Given the description of an element on the screen output the (x, y) to click on. 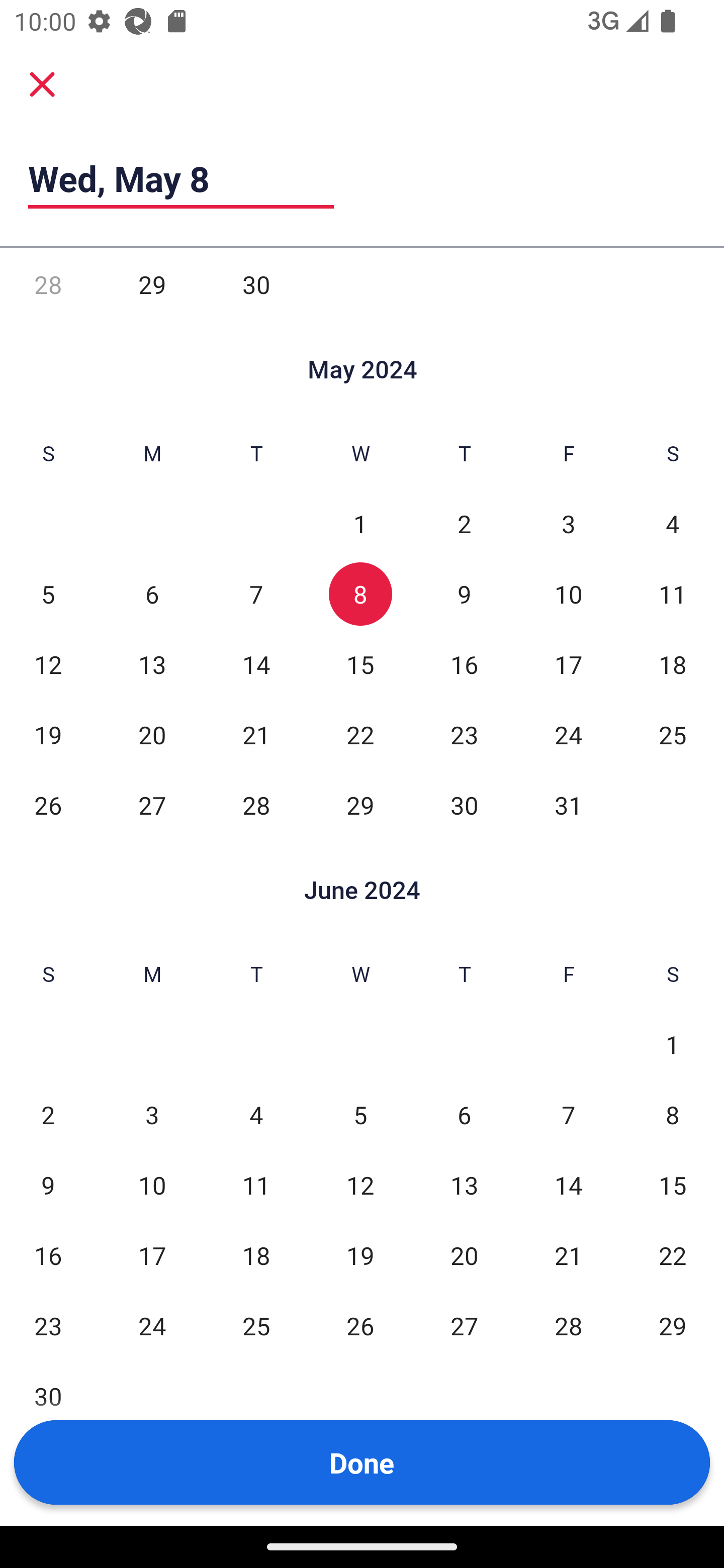
Cancel (41, 83)
Wed, May 8 (180, 178)
28 Sun, Apr 28, Not Selected (48, 284)
29 Mon, Apr 29, Not Selected (152, 284)
30 Tue, Apr 30, Not Selected (256, 284)
1 Wed, May 1, Not Selected (360, 523)
2 Thu, May 2, Not Selected (464, 523)
3 Fri, May 3, Not Selected (568, 523)
4 Sat, May 4, Not Selected (672, 523)
5 Sun, May 5, Not Selected (48, 593)
6 Mon, May 6, Not Selected (152, 593)
7 Tue, May 7, Not Selected (256, 593)
8 Wed, May 8, Selected (360, 593)
9 Thu, May 9, Not Selected (464, 593)
10 Fri, May 10, Not Selected (568, 593)
11 Sat, May 11, Not Selected (672, 593)
12 Sun, May 12, Not Selected (48, 663)
13 Mon, May 13, Not Selected (152, 663)
14 Tue, May 14, Not Selected (256, 663)
15 Wed, May 15, Not Selected (360, 663)
16 Thu, May 16, Not Selected (464, 663)
17 Fri, May 17, Not Selected (568, 663)
18 Sat, May 18, Not Selected (672, 663)
19 Sun, May 19, Not Selected (48, 734)
20 Mon, May 20, Not Selected (152, 734)
21 Tue, May 21, Not Selected (256, 734)
22 Wed, May 22, Not Selected (360, 734)
23 Thu, May 23, Not Selected (464, 734)
24 Fri, May 24, Not Selected (568, 734)
25 Sat, May 25, Not Selected (672, 734)
26 Sun, May 26, Not Selected (48, 804)
27 Mon, May 27, Not Selected (152, 804)
28 Tue, May 28, Not Selected (256, 804)
29 Wed, May 29, Not Selected (360, 804)
30 Thu, May 30, Not Selected (464, 804)
31 Fri, May 31, Not Selected (568, 804)
1 Sat, Jun 1, Not Selected (672, 1043)
2 Sun, Jun 2, Not Selected (48, 1113)
3 Mon, Jun 3, Not Selected (152, 1113)
4 Tue, Jun 4, Not Selected (256, 1113)
5 Wed, Jun 5, Not Selected (360, 1113)
6 Thu, Jun 6, Not Selected (464, 1113)
7 Fri, Jun 7, Not Selected (568, 1113)
8 Sat, Jun 8, Not Selected (672, 1113)
9 Sun, Jun 9, Not Selected (48, 1184)
10 Mon, Jun 10, Not Selected (152, 1184)
11 Tue, Jun 11, Not Selected (256, 1184)
12 Wed, Jun 12, Not Selected (360, 1184)
13 Thu, Jun 13, Not Selected (464, 1184)
14 Fri, Jun 14, Not Selected (568, 1184)
15 Sat, Jun 15, Not Selected (672, 1184)
16 Sun, Jun 16, Not Selected (48, 1254)
17 Mon, Jun 17, Not Selected (152, 1254)
18 Tue, Jun 18, Not Selected (256, 1254)
19 Wed, Jun 19, Not Selected (360, 1254)
20 Thu, Jun 20, Not Selected (464, 1254)
21 Fri, Jun 21, Not Selected (568, 1254)
22 Sat, Jun 22, Not Selected (672, 1254)
23 Sun, Jun 23, Not Selected (48, 1325)
24 Mon, Jun 24, Not Selected (152, 1325)
25 Tue, Jun 25, Not Selected (256, 1325)
26 Wed, Jun 26, Not Selected (360, 1325)
27 Thu, Jun 27, Not Selected (464, 1325)
28 Fri, Jun 28, Not Selected (568, 1325)
29 Sat, Jun 29, Not Selected (672, 1325)
30 Sun, Jun 30, Not Selected (48, 1396)
Done Button Done (361, 1462)
